Given the description of an element on the screen output the (x, y) to click on. 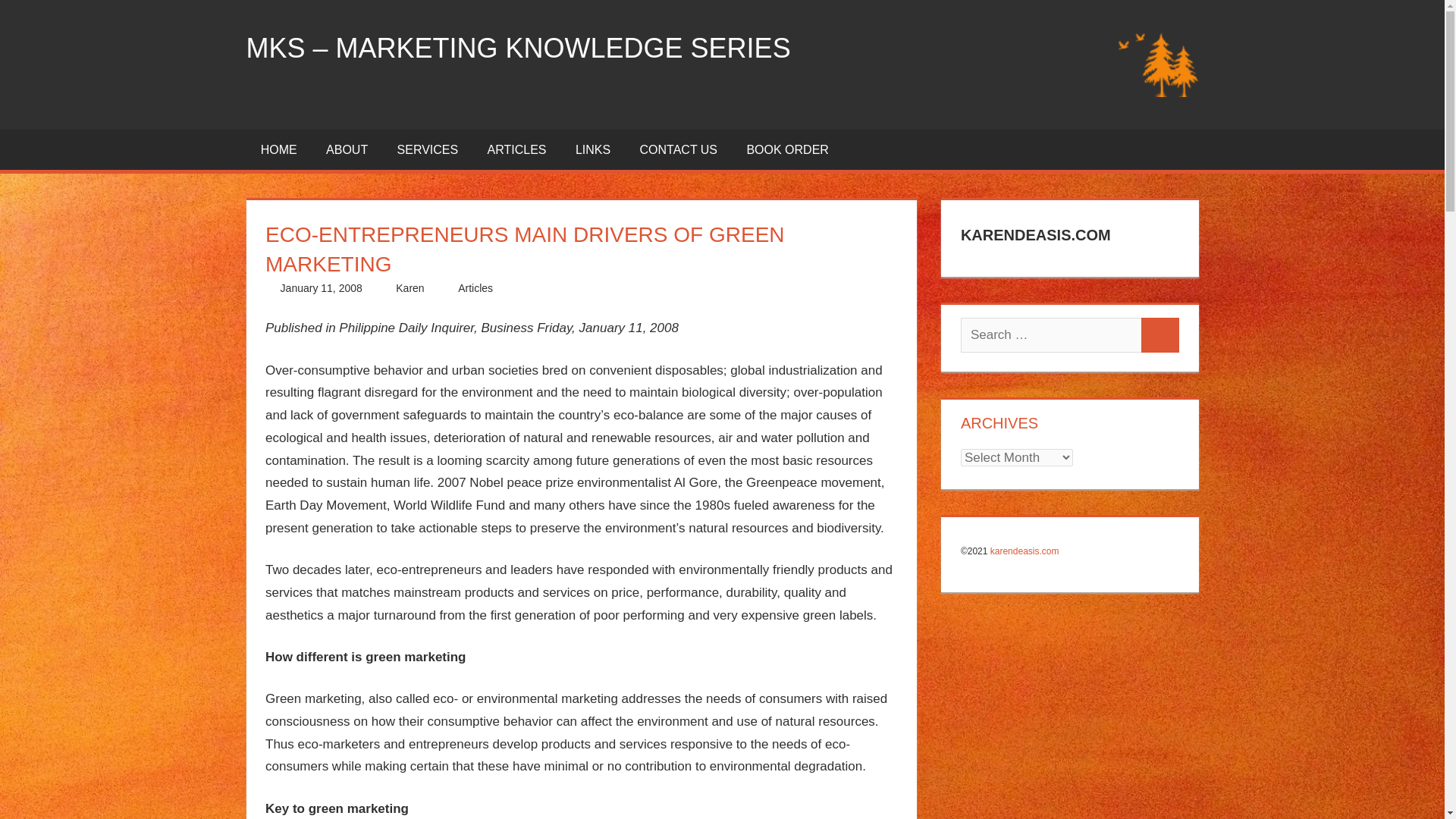
ARTICLES (515, 149)
LINKS (593, 149)
HOME (278, 149)
BOOK ORDER (787, 149)
10:39 am (321, 287)
Search (1160, 334)
Karen (409, 287)
Articles (475, 287)
CONTACT US (678, 149)
SERVICES (426, 149)
